Given the description of an element on the screen output the (x, y) to click on. 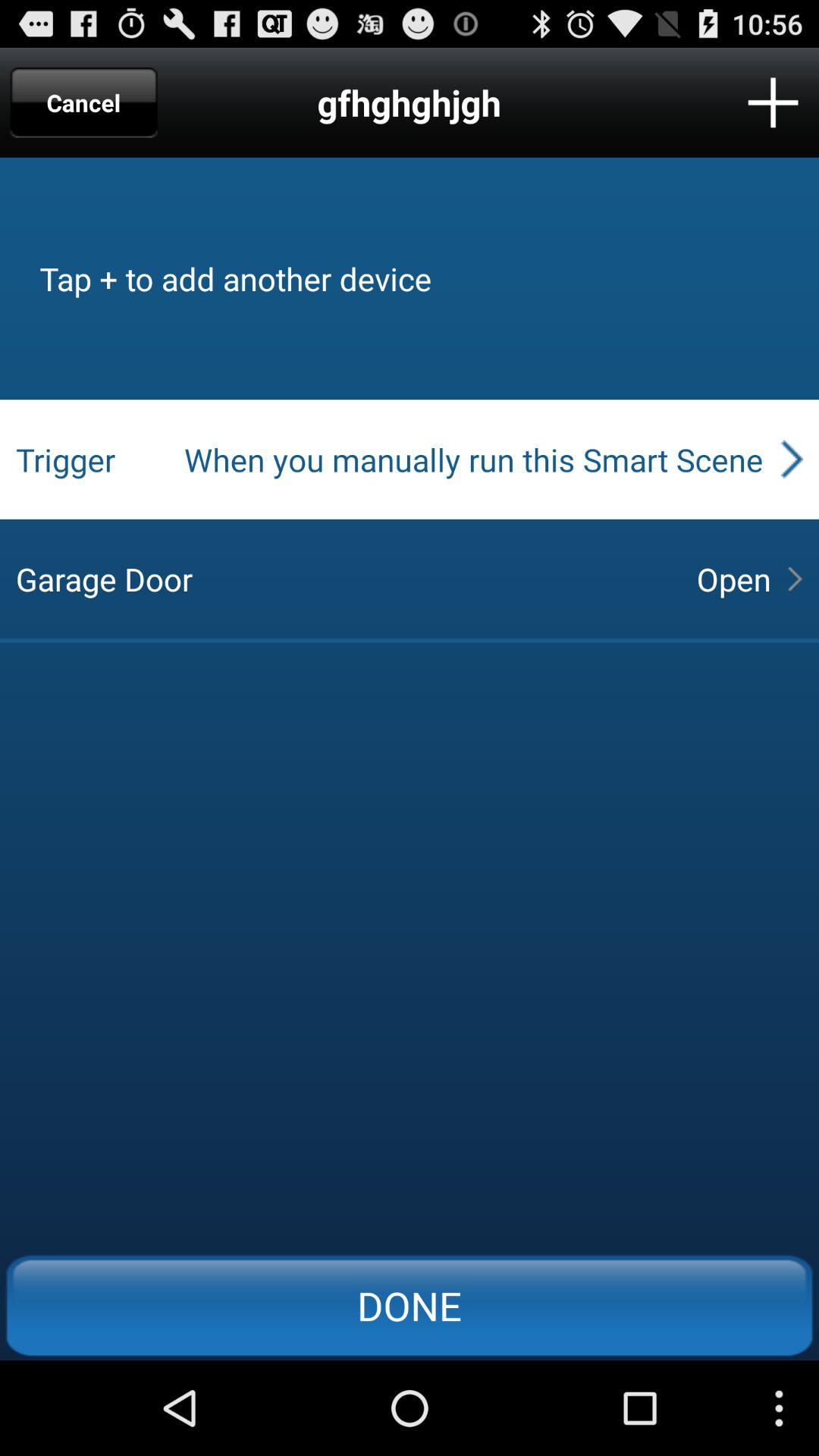
jump to cancel (83, 102)
